Given the description of an element on the screen output the (x, y) to click on. 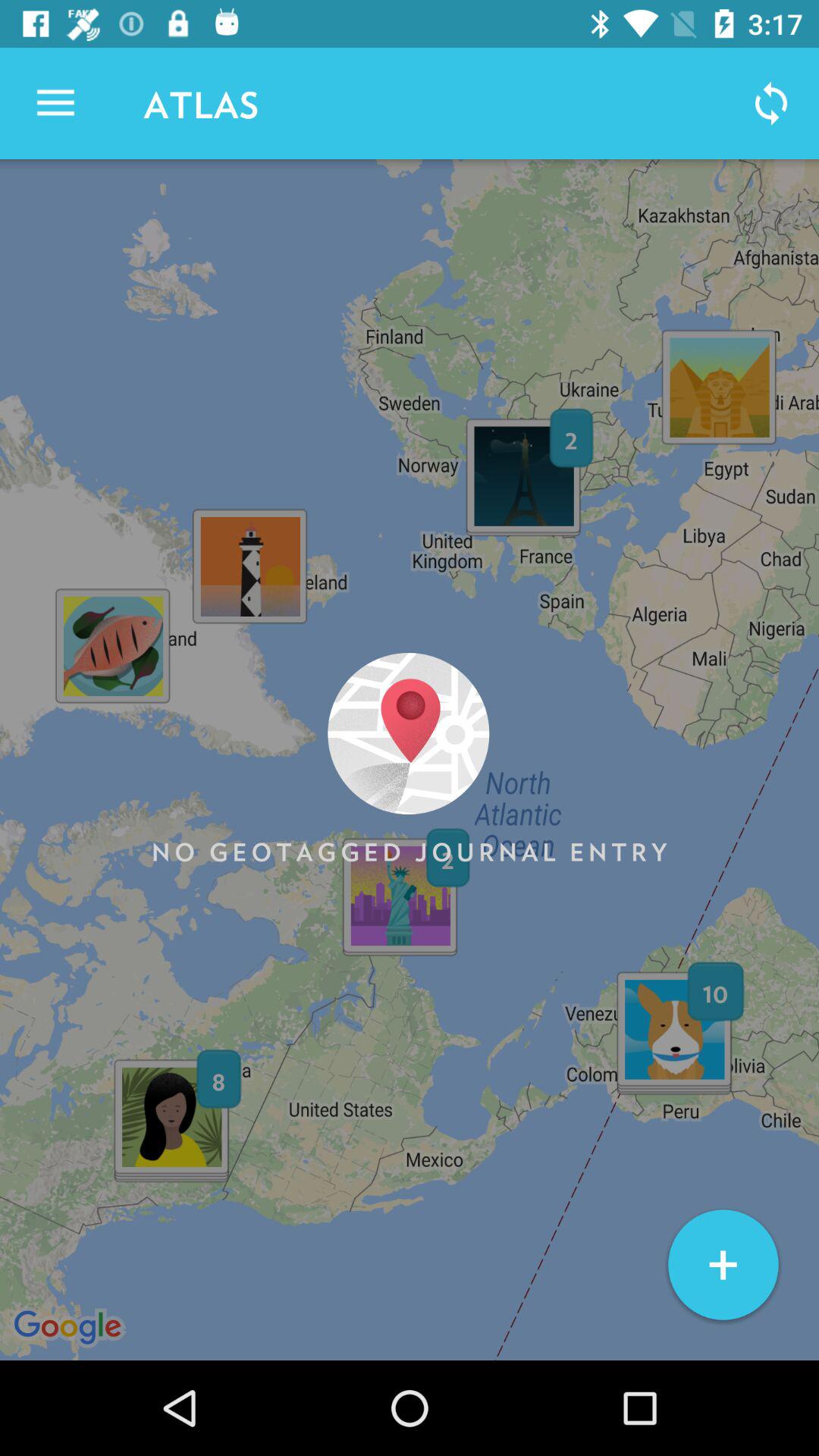
tap icon next to atlas (771, 103)
